Given the description of an element on the screen output the (x, y) to click on. 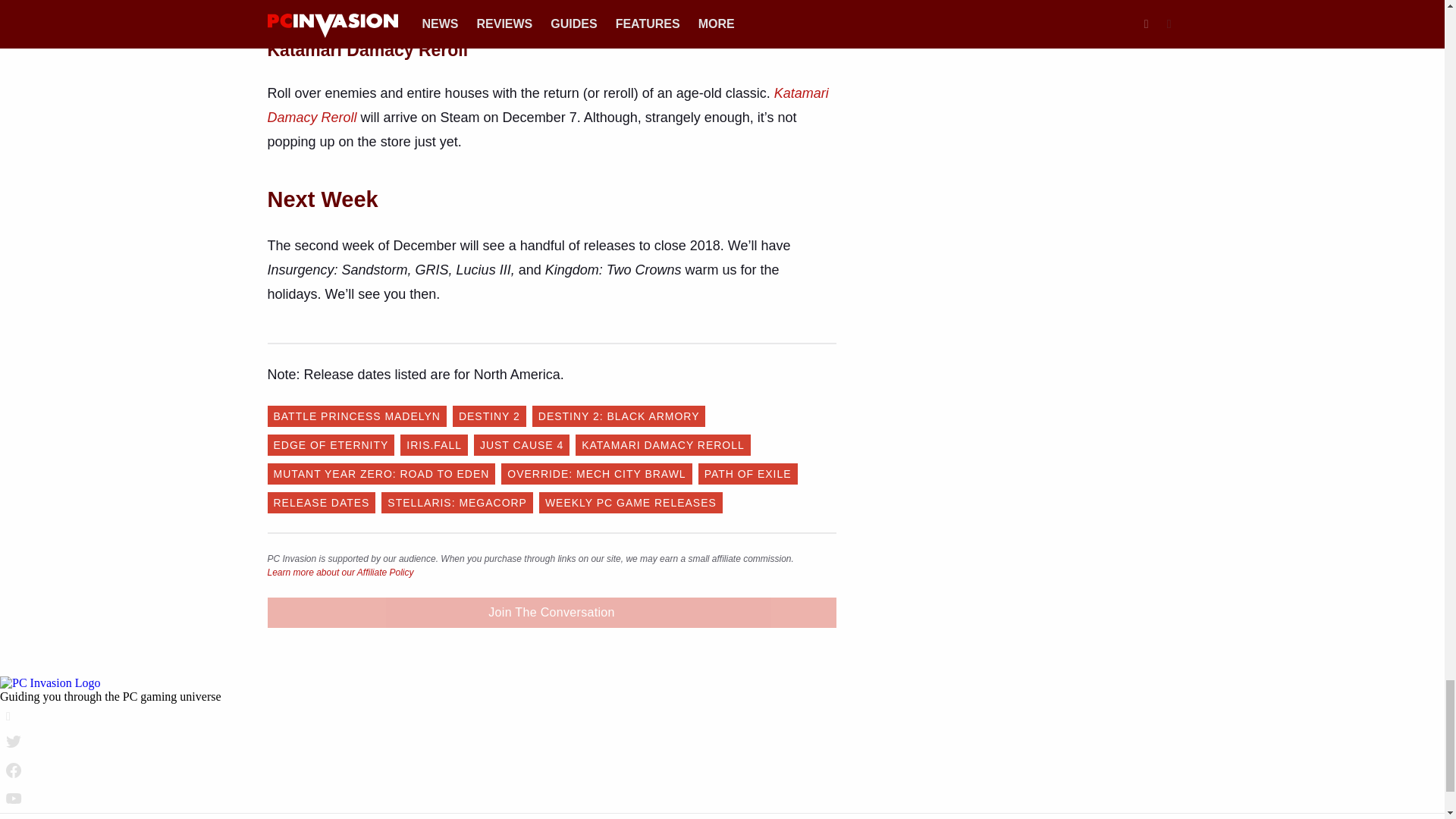
Join The Conversation (550, 612)
